Given the description of an element on the screen output the (x, y) to click on. 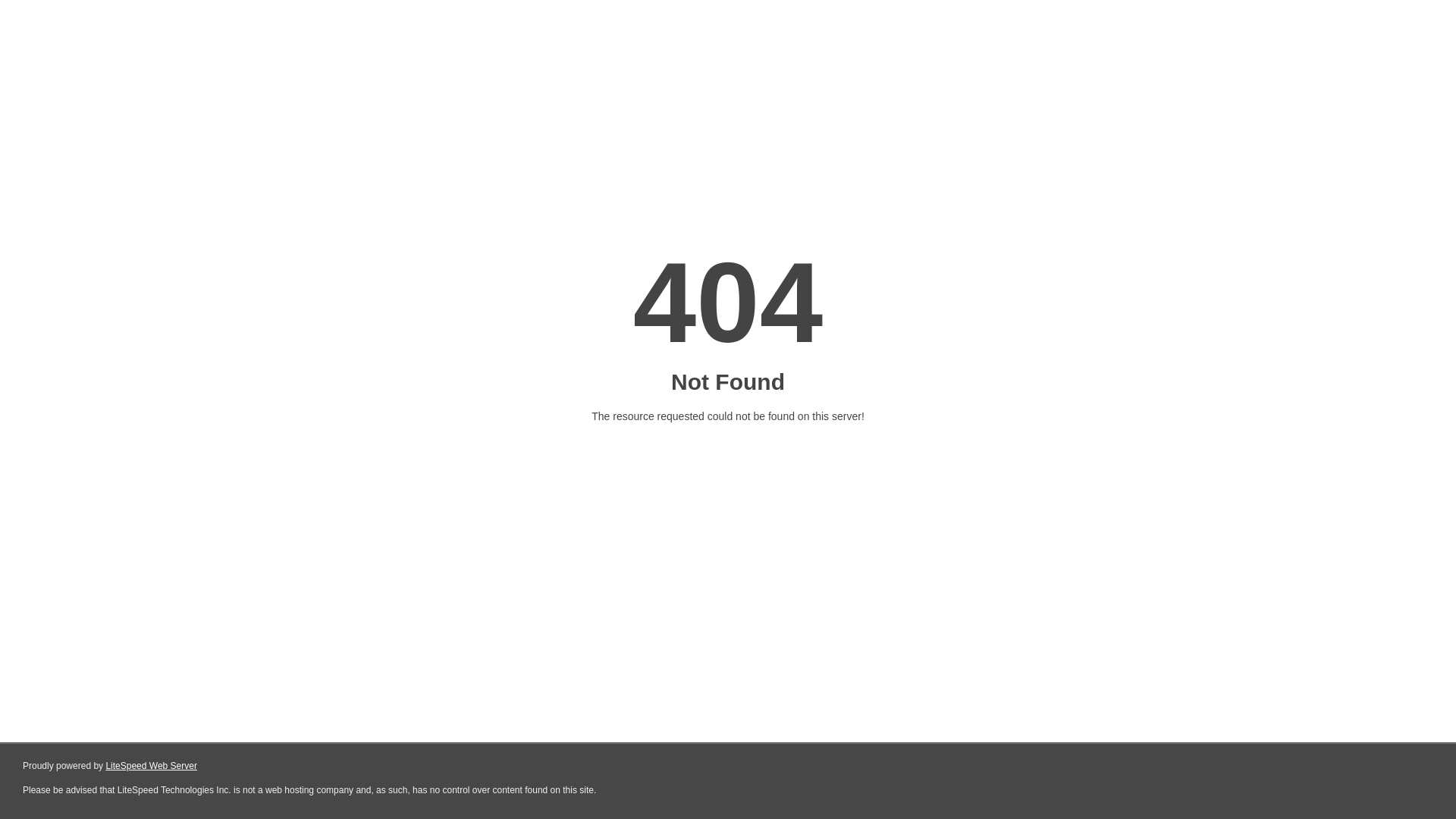
LiteSpeed Web Server Element type: text (151, 765)
